Given the description of an element on the screen output the (x, y) to click on. 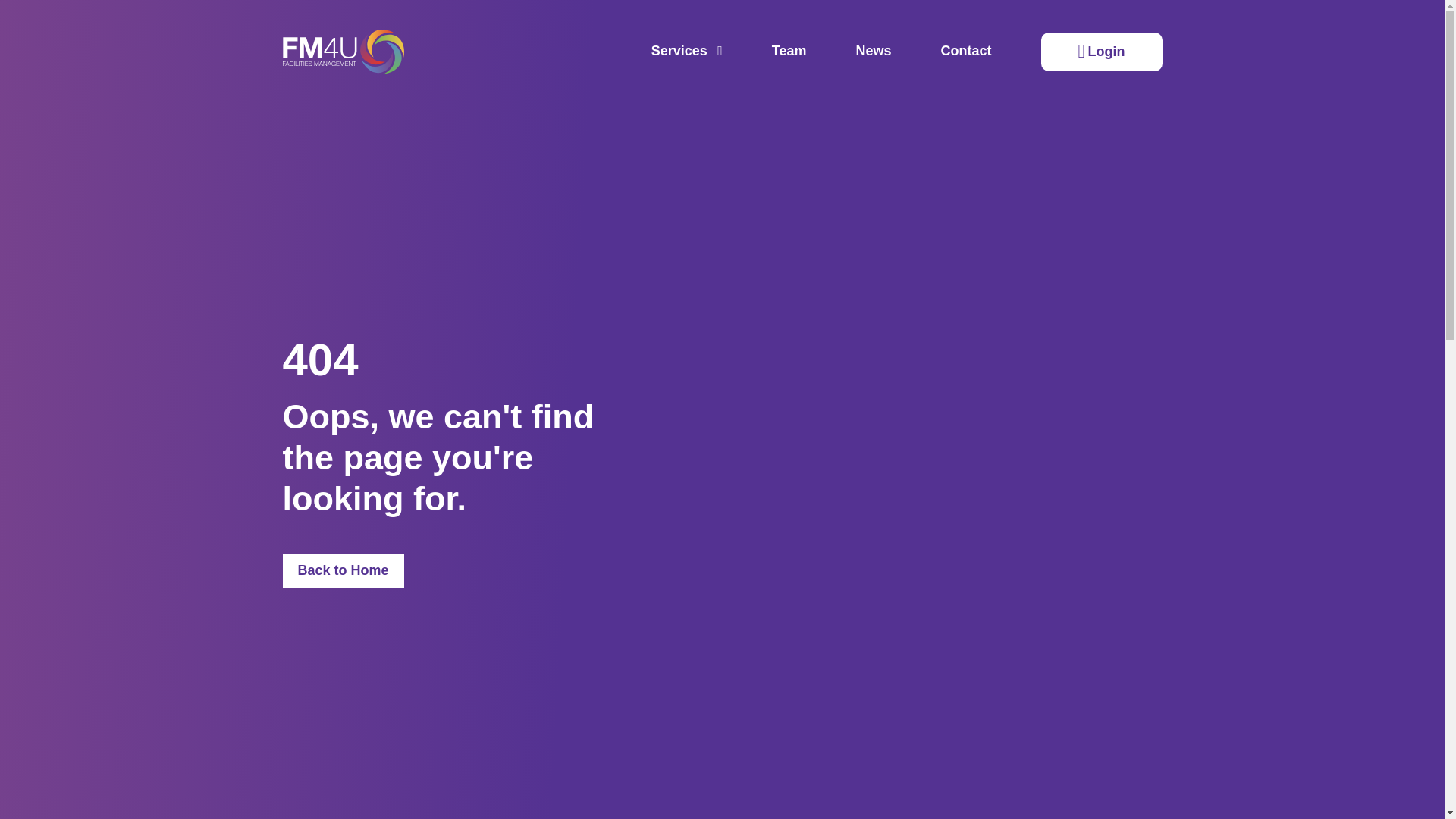
News (873, 51)
Back to Home (342, 570)
Team (788, 51)
Contact (965, 51)
Services (686, 51)
Login (1101, 51)
